Given the description of an element on the screen output the (x, y) to click on. 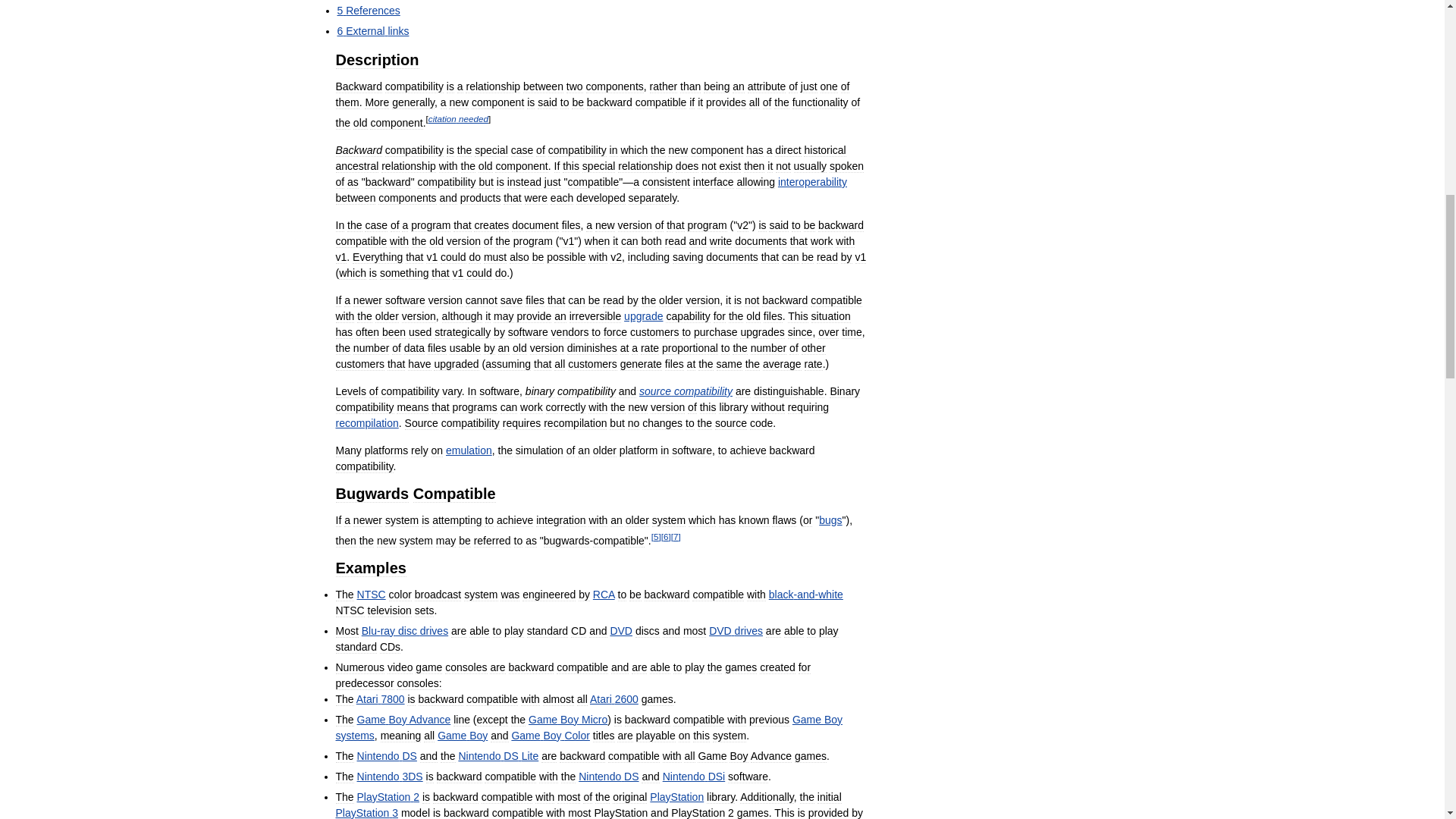
interoperability (812, 182)
upgrade (643, 316)
citation needed (457, 118)
6 External links (372, 30)
5 References (367, 10)
